Given the description of an element on the screen output the (x, y) to click on. 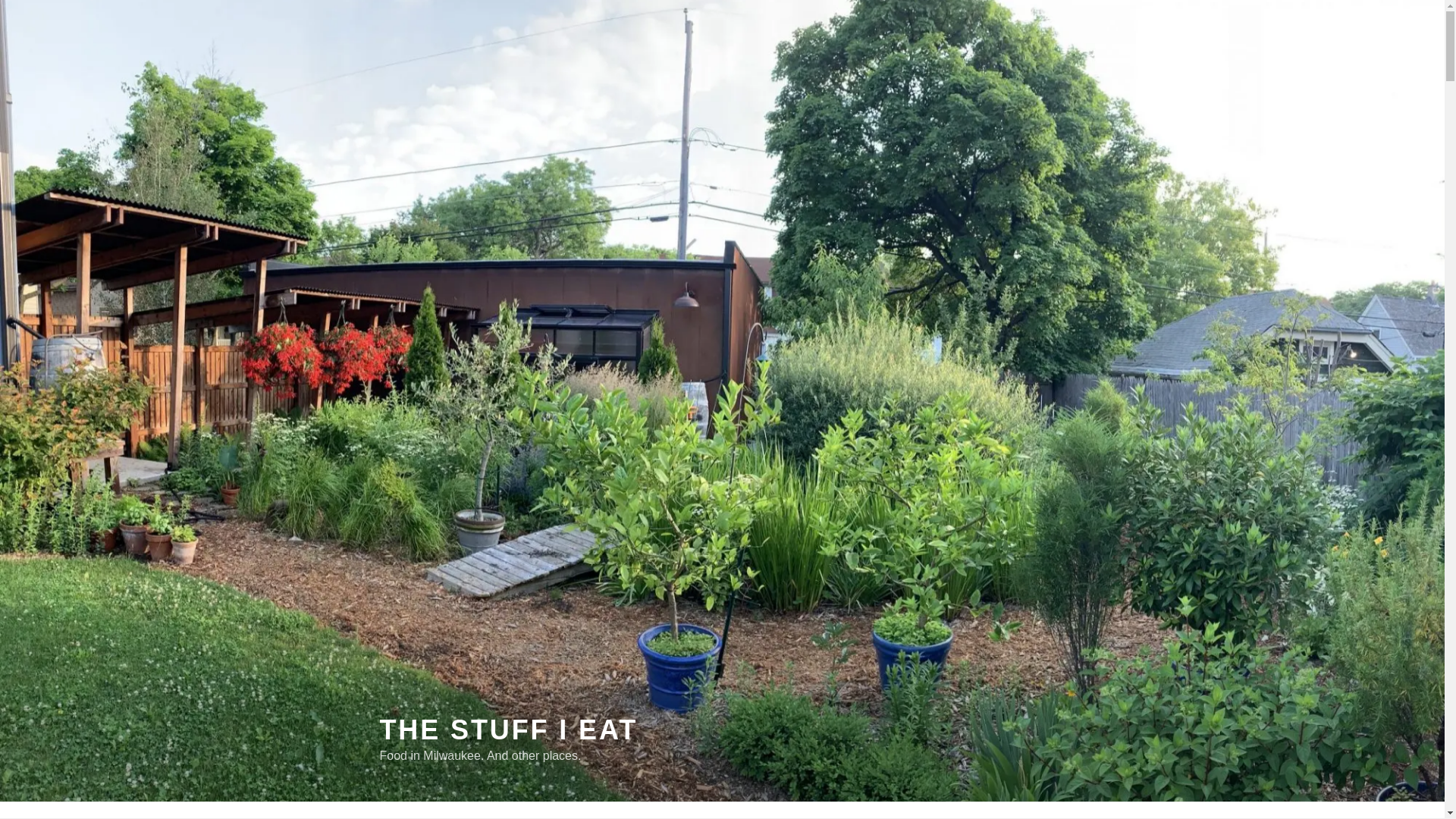
THE STUFF I EAT (507, 729)
Scroll down to content (1082, 814)
Scroll down to content (1082, 814)
